Given the description of an element on the screen output the (x, y) to click on. 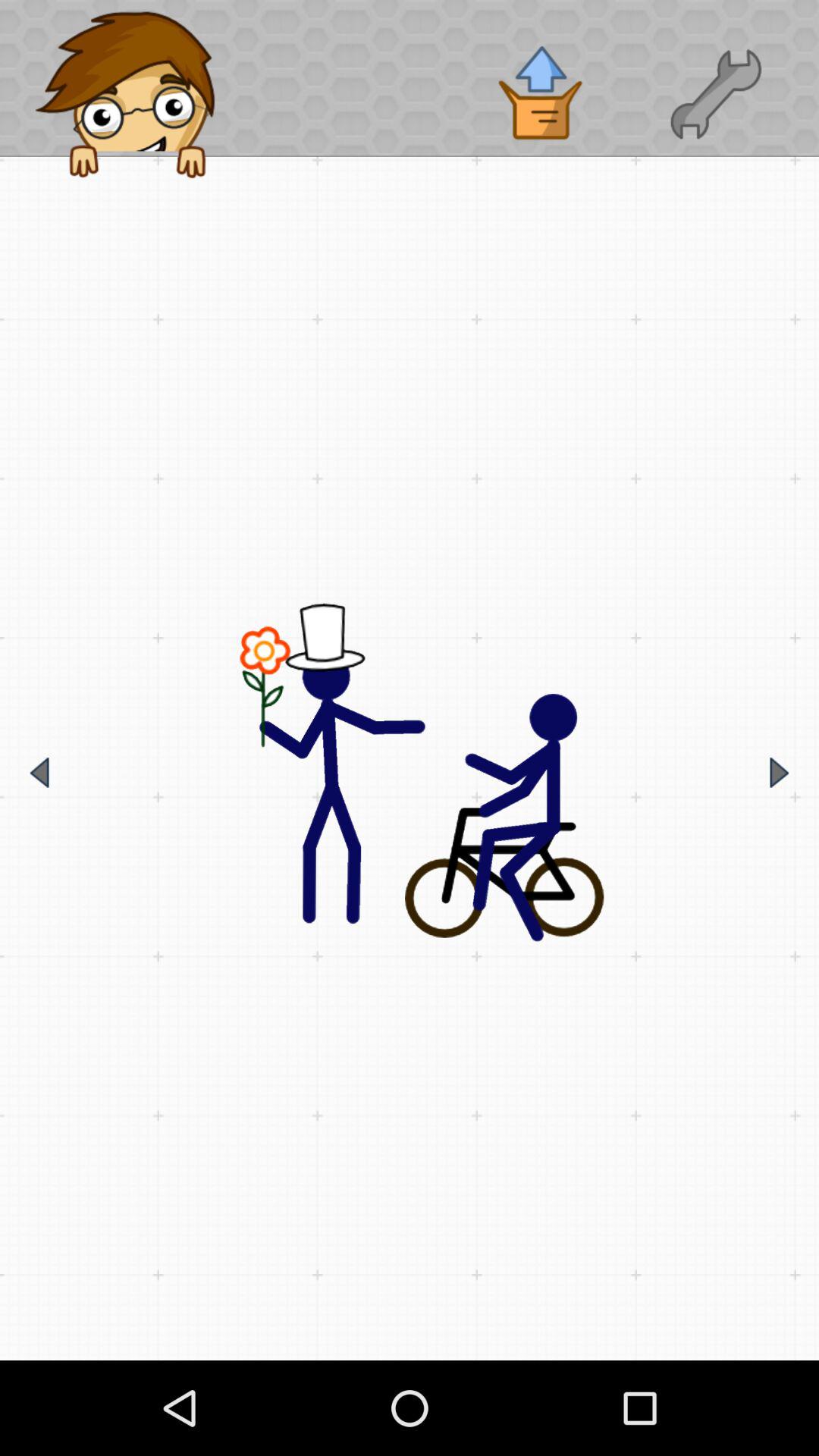
go to play option (779, 772)
